Given the description of an element on the screen output the (x, y) to click on. 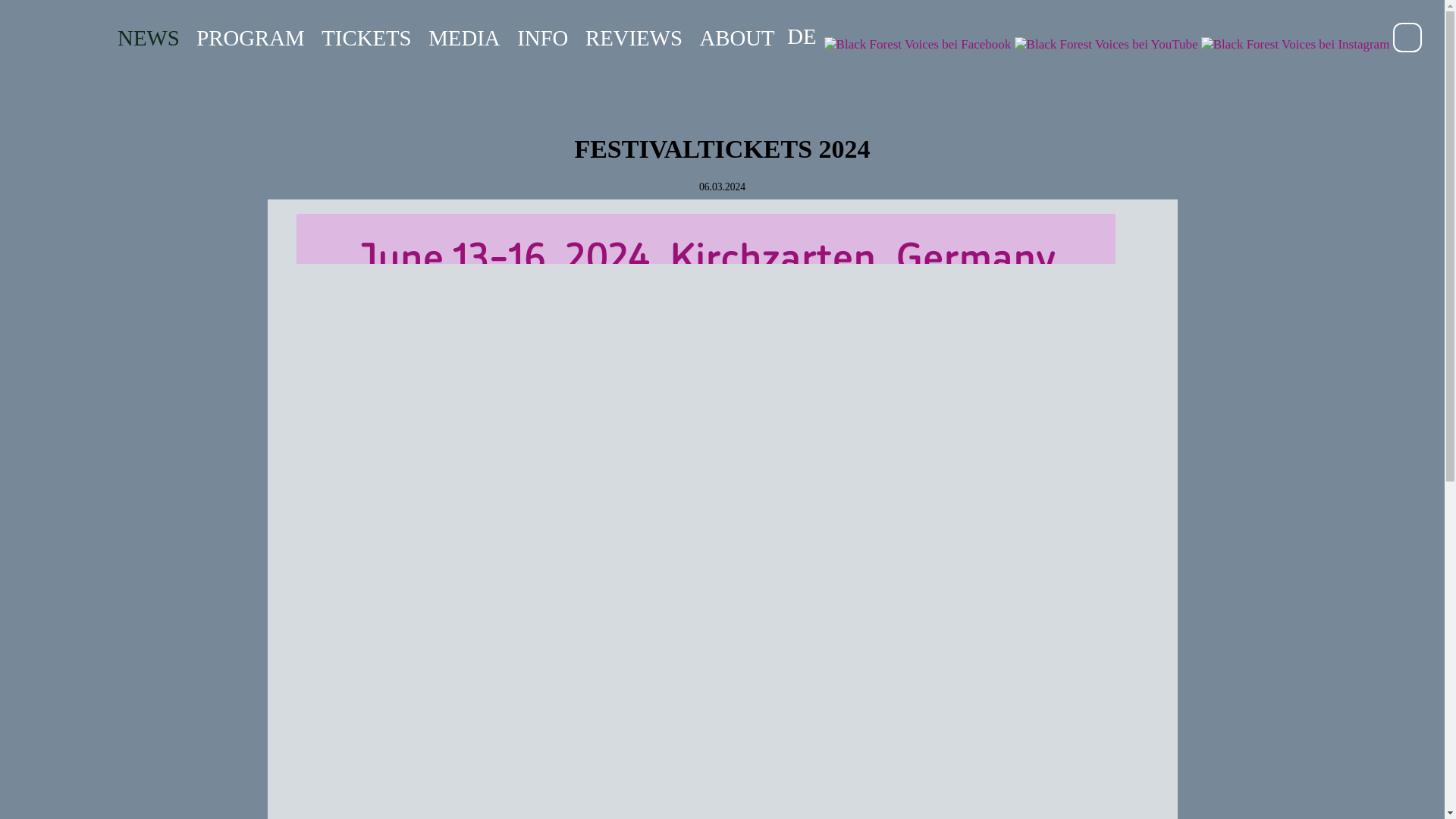
Tickets (365, 37)
REVIEWS (633, 37)
Play (1407, 36)
News (148, 37)
News Detail (801, 36)
TICKETS (365, 37)
Media (463, 37)
MEDIA (463, 37)
INFO (541, 37)
